Given the description of an element on the screen output the (x, y) to click on. 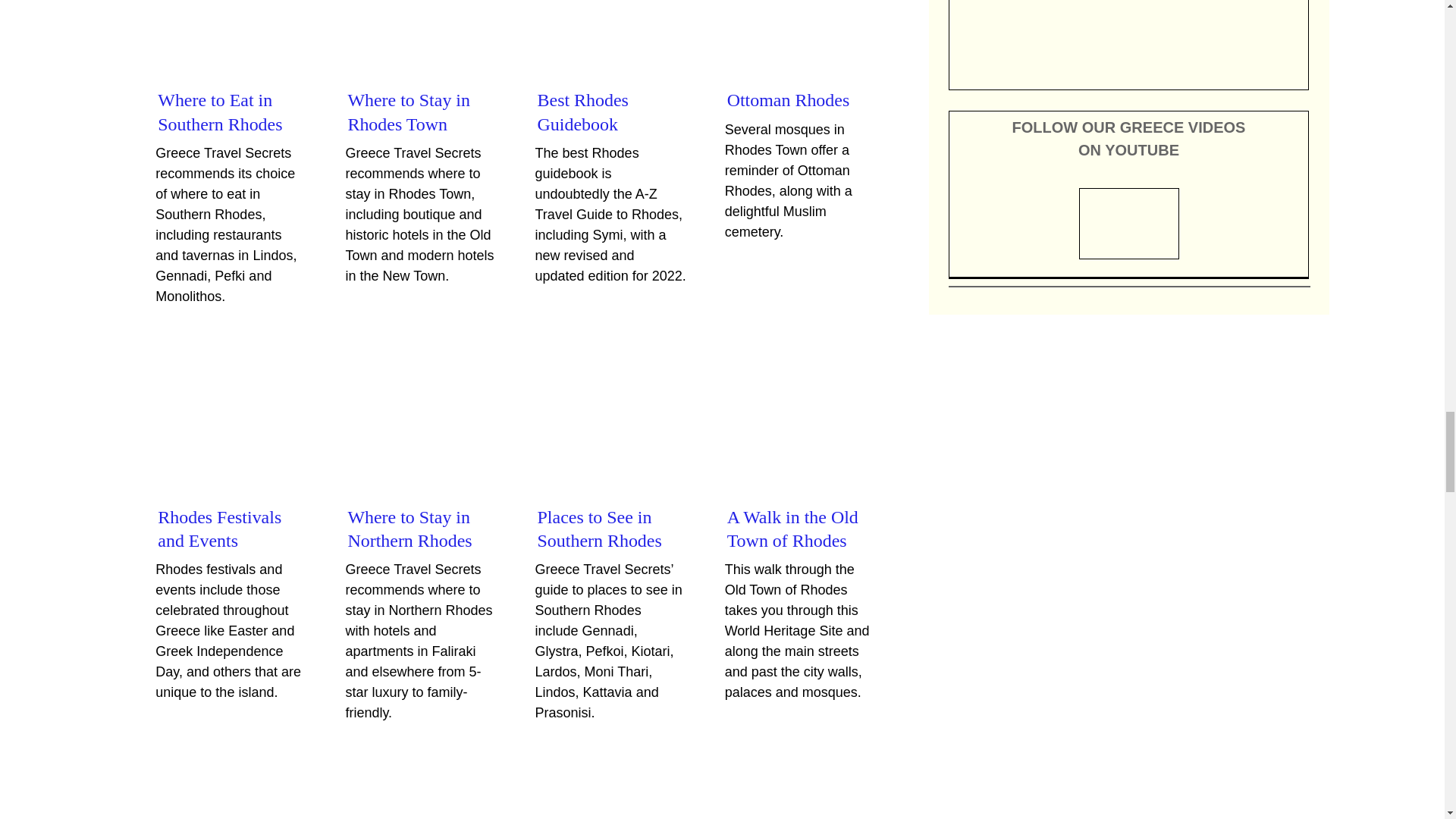
greece-travel-journal-front-cover.jpg (1128, 36)
